Given the description of an element on the screen output the (x, y) to click on. 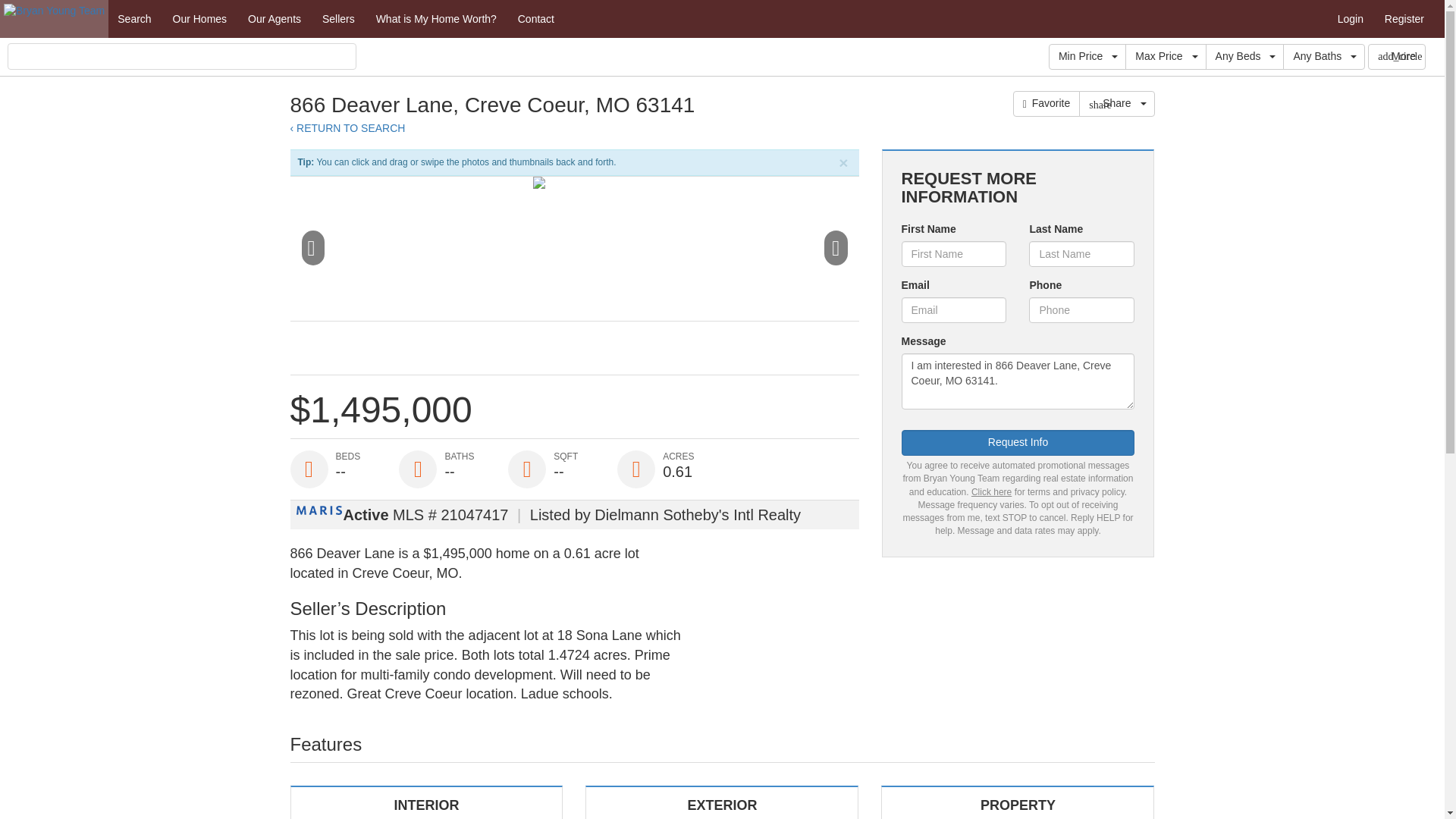
Login (1350, 18)
What is My Home Worth? (435, 18)
Contact (535, 18)
Search (133, 18)
INTERIOR (425, 802)
Min Price (1086, 56)
Our Agents (274, 18)
Sellers (338, 18)
Register (1403, 18)
